Given the description of an element on the screen output the (x, y) to click on. 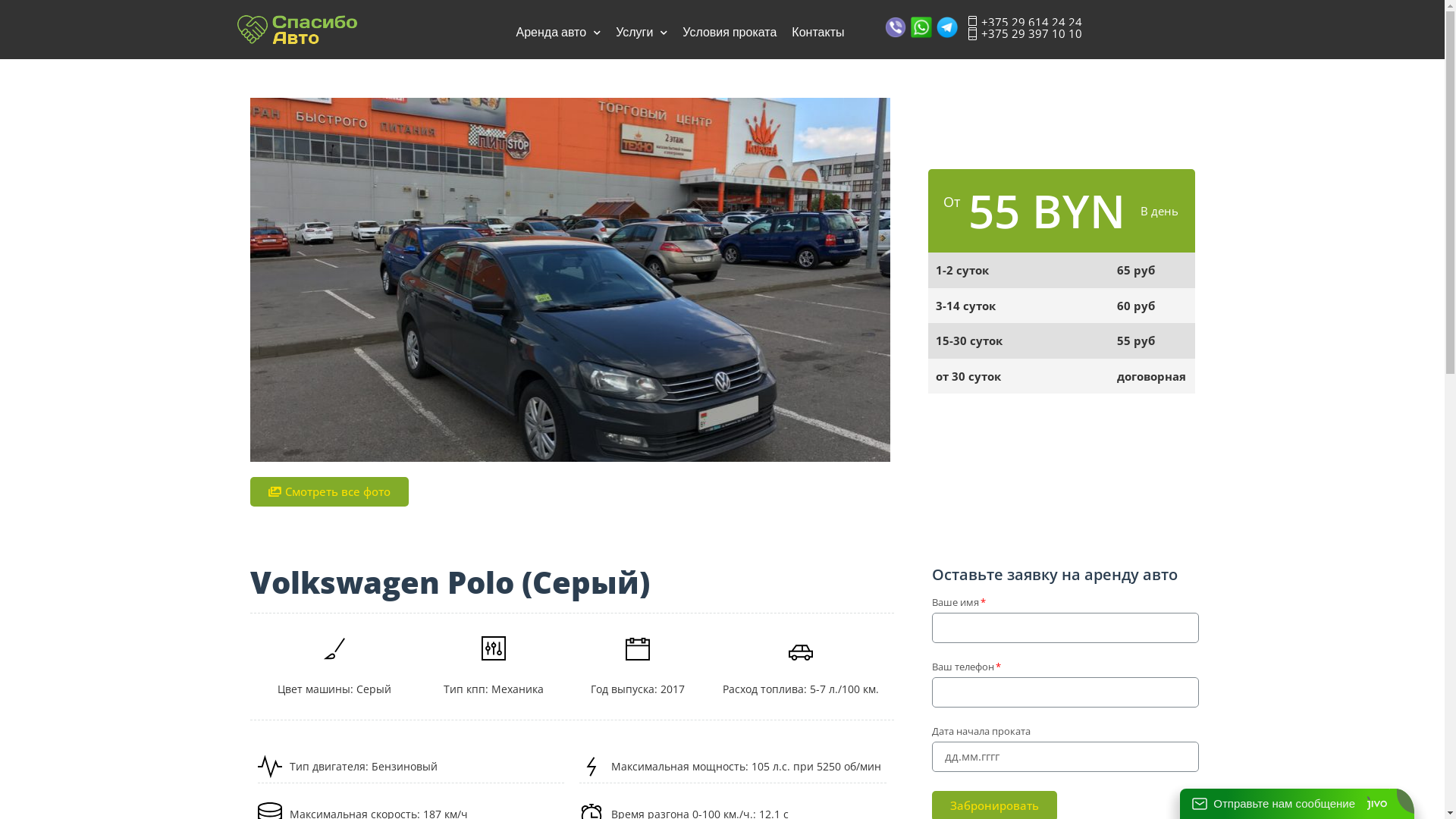
+375 29 397 10 10 Element type: text (1024, 32)
+375 29 614 24 24 Element type: text (1024, 21)
1-1 (1) Element type: hover (570, 279)
